Given the description of an element on the screen output the (x, y) to click on. 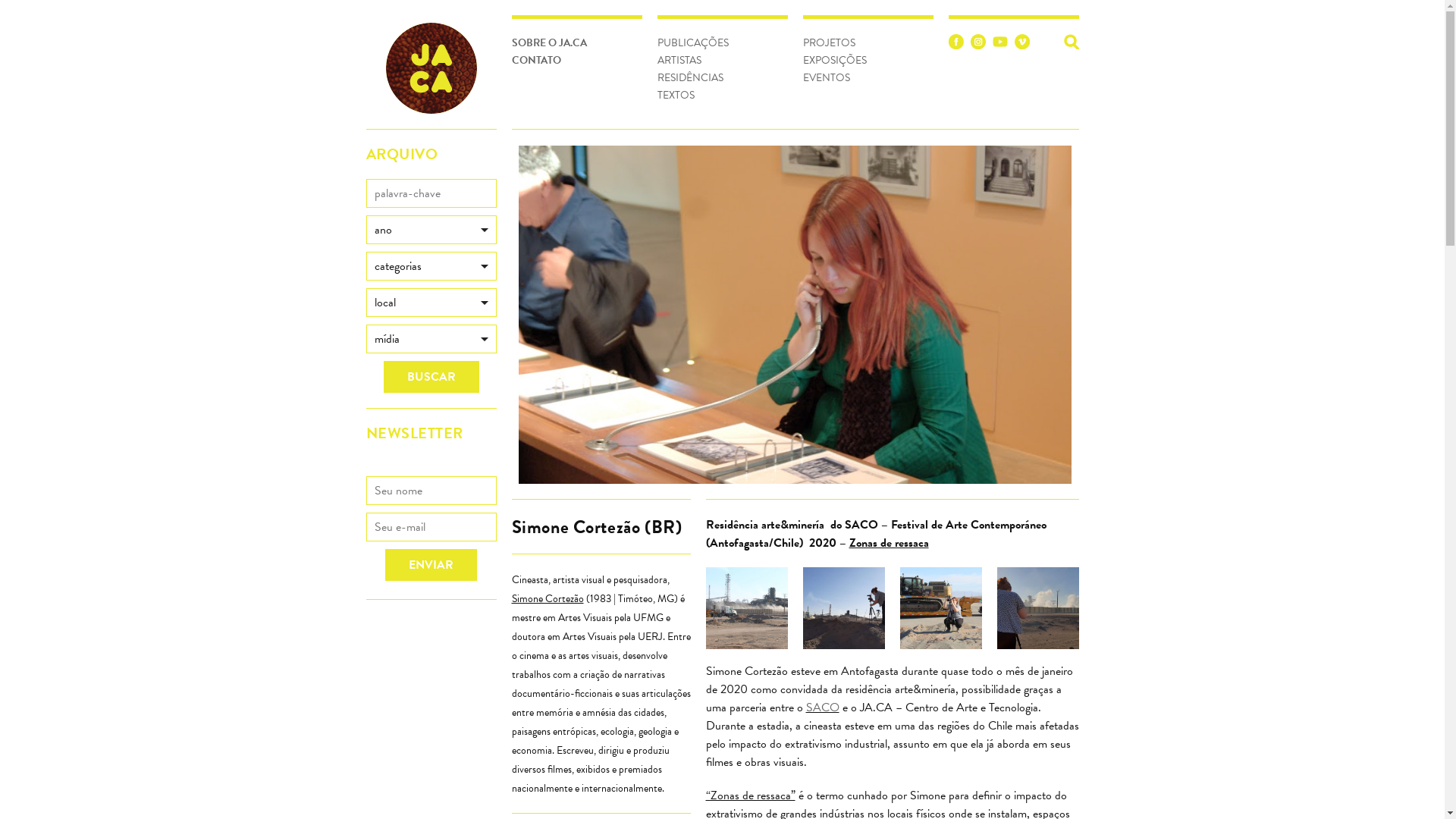
ARTISTAS Element type: text (678, 60)
Instagram Element type: hover (977, 44)
CONTATO Element type: text (535, 60)
TEXTOS Element type: text (674, 95)
JA.CA Element type: text (430, 67)
Enviar Element type: text (430, 564)
EVENTOS Element type: text (825, 77)
Youtube Element type: hover (999, 44)
Vimeo Element type: hover (1021, 44)
PROJETOS Element type: text (828, 42)
SOBRE O JA.CA Element type: text (548, 42)
Busca Element type: text (1070, 41)
Facebook Element type: hover (955, 44)
SACO Element type: text (821, 707)
Buscar Element type: text (431, 376)
